Given the description of an element on the screen output the (x, y) to click on. 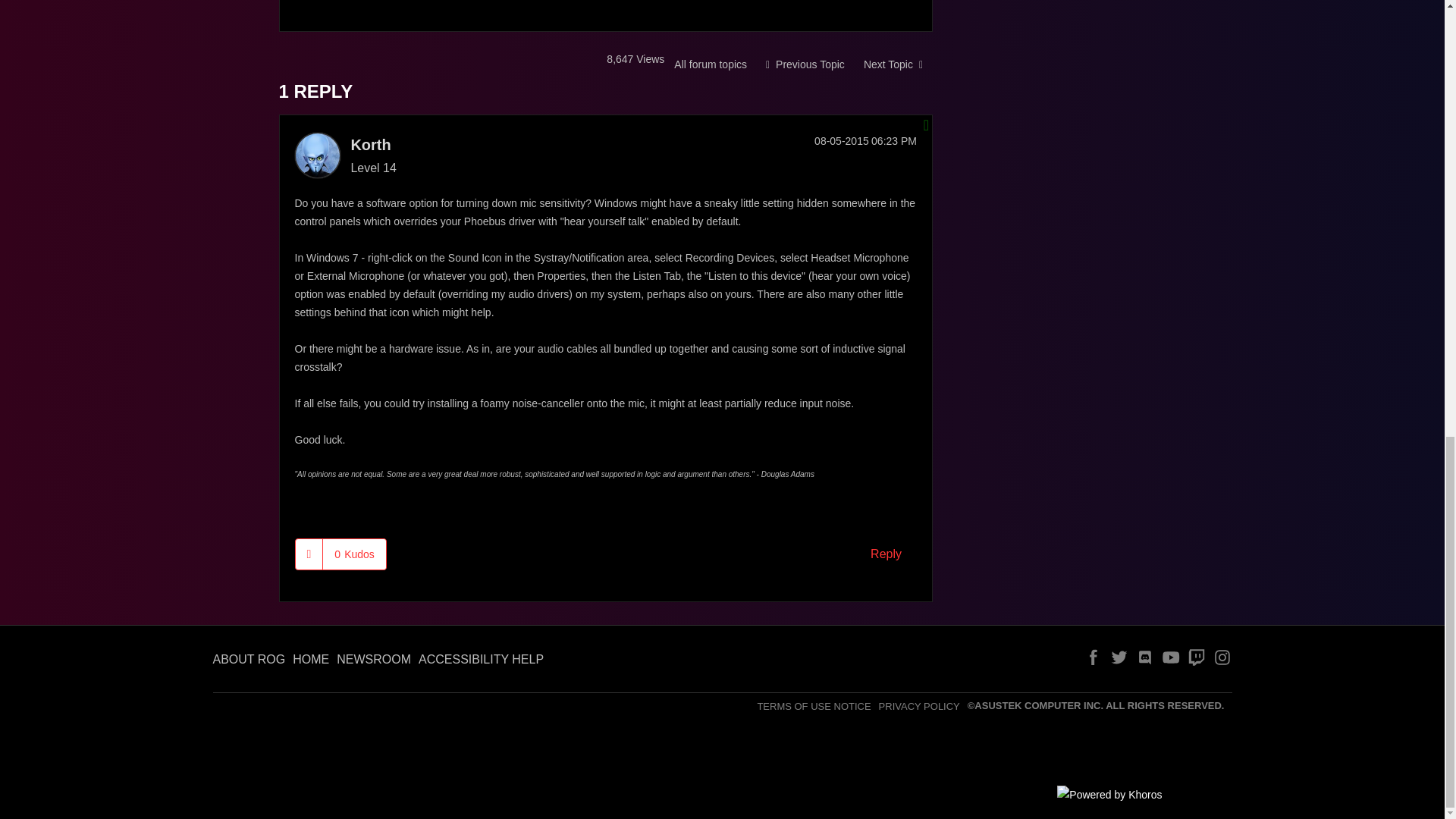
Korth (316, 155)
Gaming Sound Cards (710, 63)
Click here to give kudos to this post. (309, 553)
The total number of kudos this post has received. (354, 553)
1.08 drivers missing microphone noise cancellation? (893, 63)
